Given the description of an element on the screen output the (x, y) to click on. 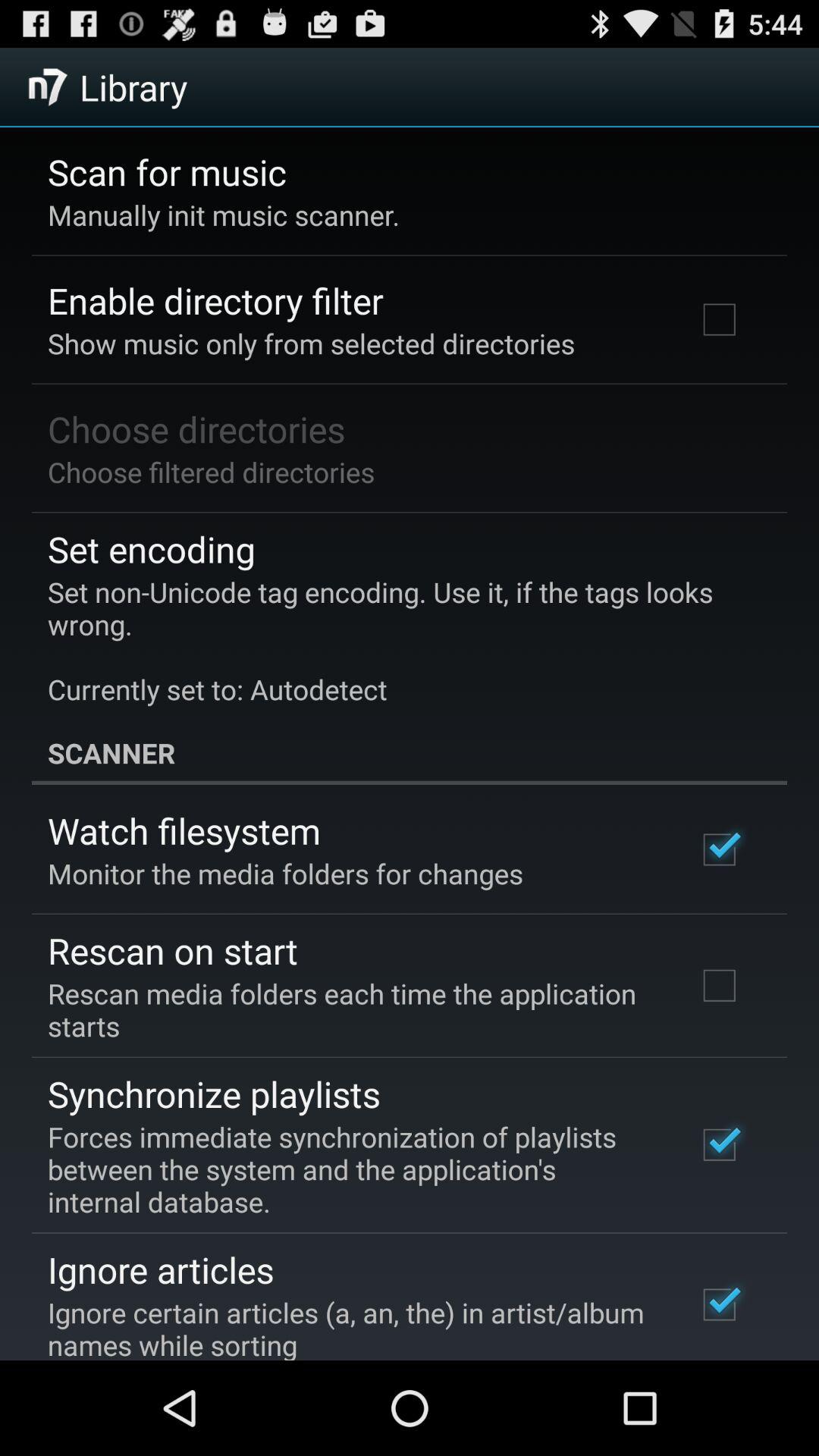
choose the item above rescan media folders item (172, 950)
